Given the description of an element on the screen output the (x, y) to click on. 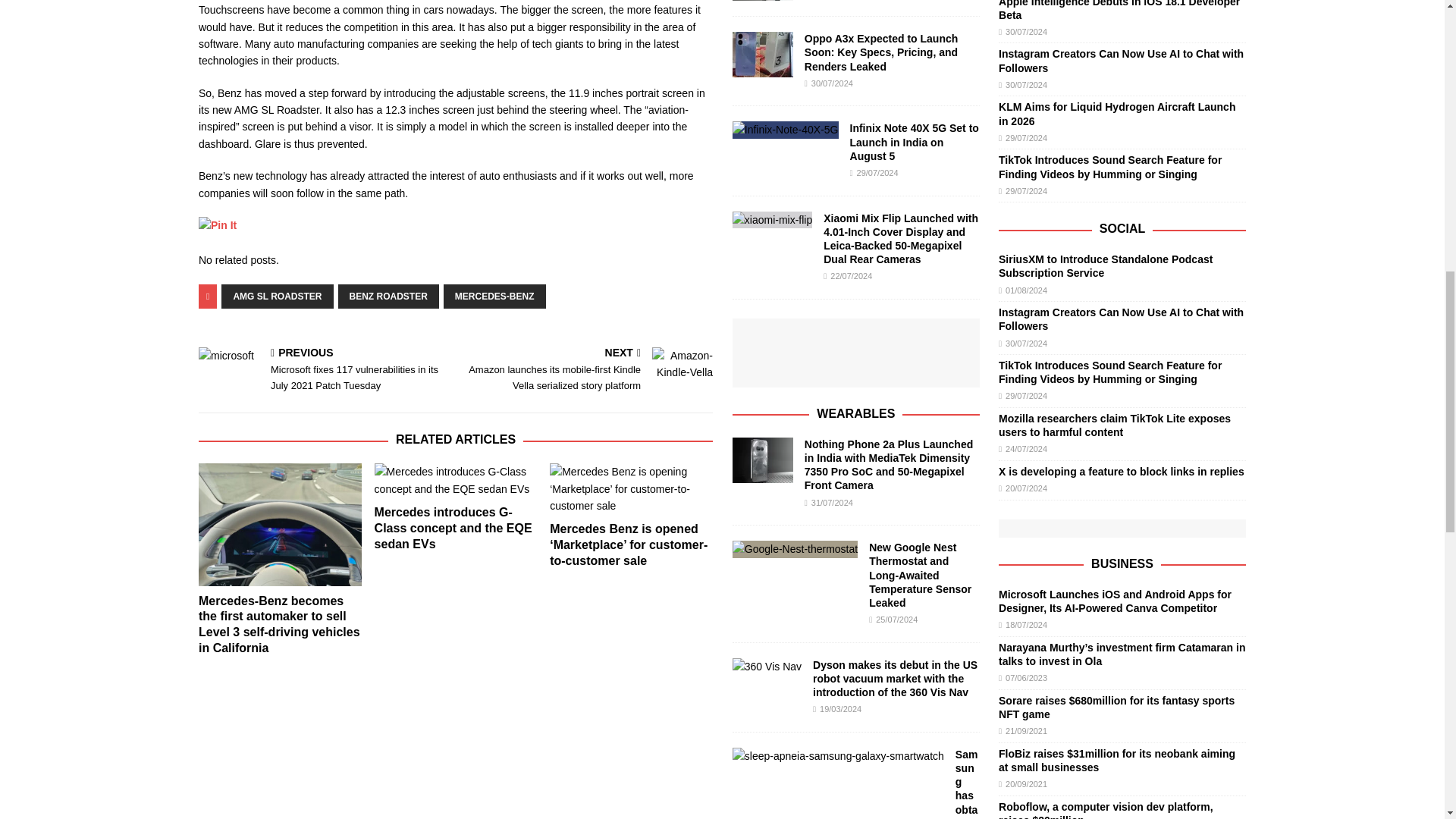
AMG SL ROADSTER (277, 296)
BENZ ROADSTER (388, 296)
